Given the description of an element on the screen output the (x, y) to click on. 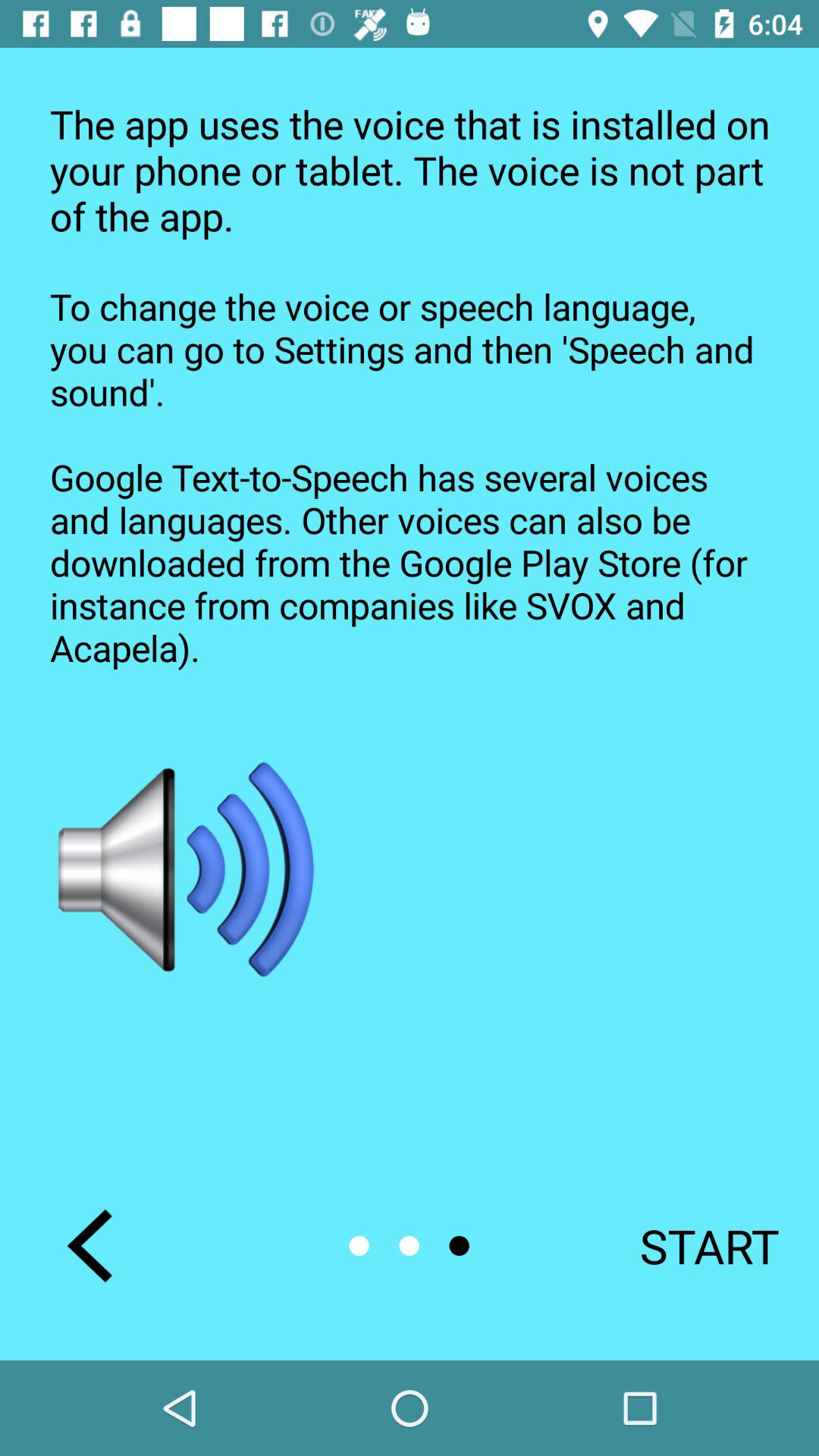
press icon on the left (187, 869)
